Given the description of an element on the screen output the (x, y) to click on. 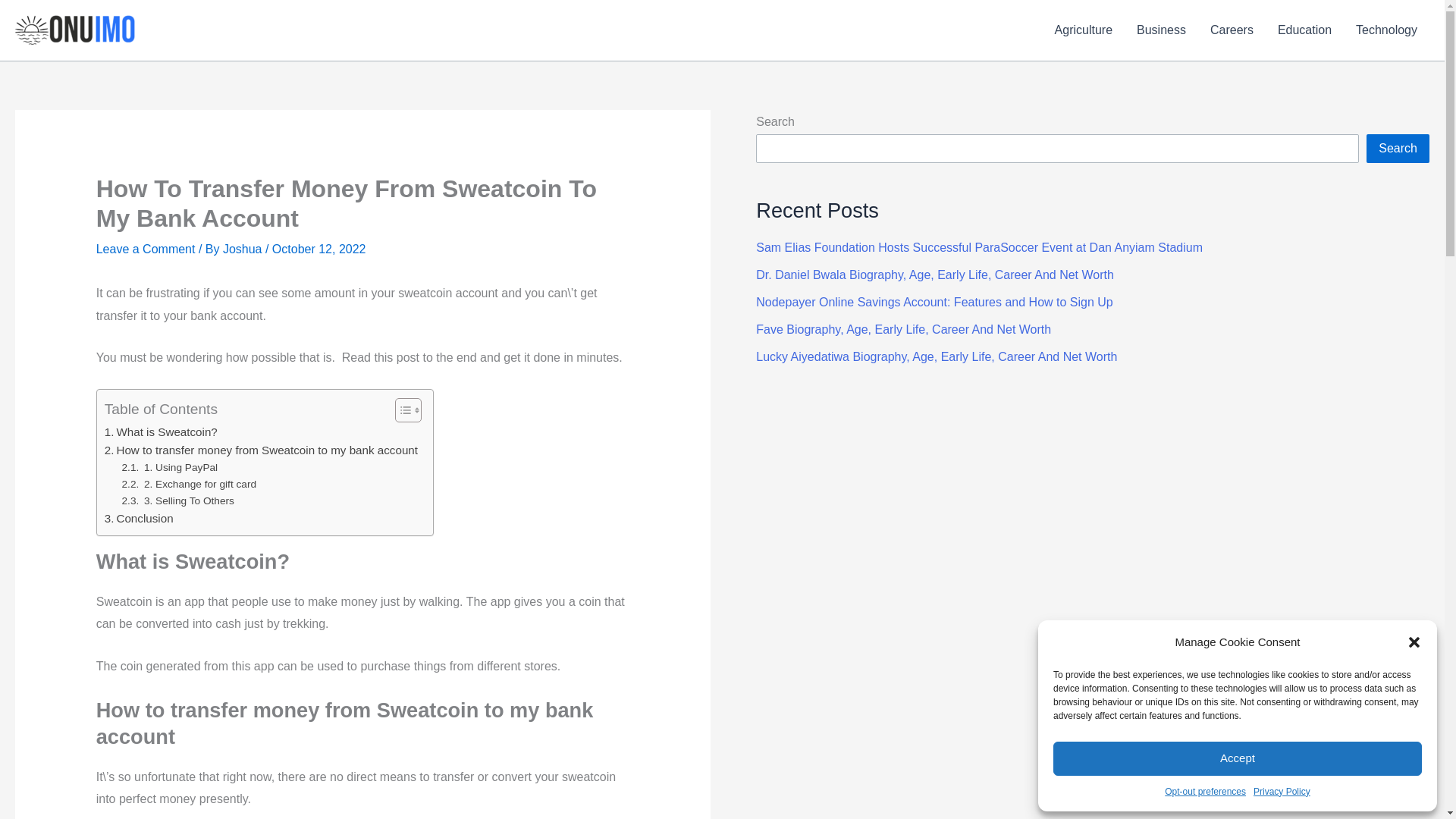
 1. Using PayPal (170, 467)
Agriculture (1083, 30)
Privacy Policy (1281, 791)
Business (1161, 30)
Leave a Comment (145, 248)
Conclusion (138, 518)
 3. Selling To Others (178, 501)
View all posts by Joshua (243, 248)
Careers (1231, 30)
 2. Exchange for gift card (189, 484)
How to transfer money from Sweatcoin to my bank account (260, 450)
Technology (1386, 30)
How to transfer money from Sweatcoin to my bank account (260, 450)
